Given the description of an element on the screen output the (x, y) to click on. 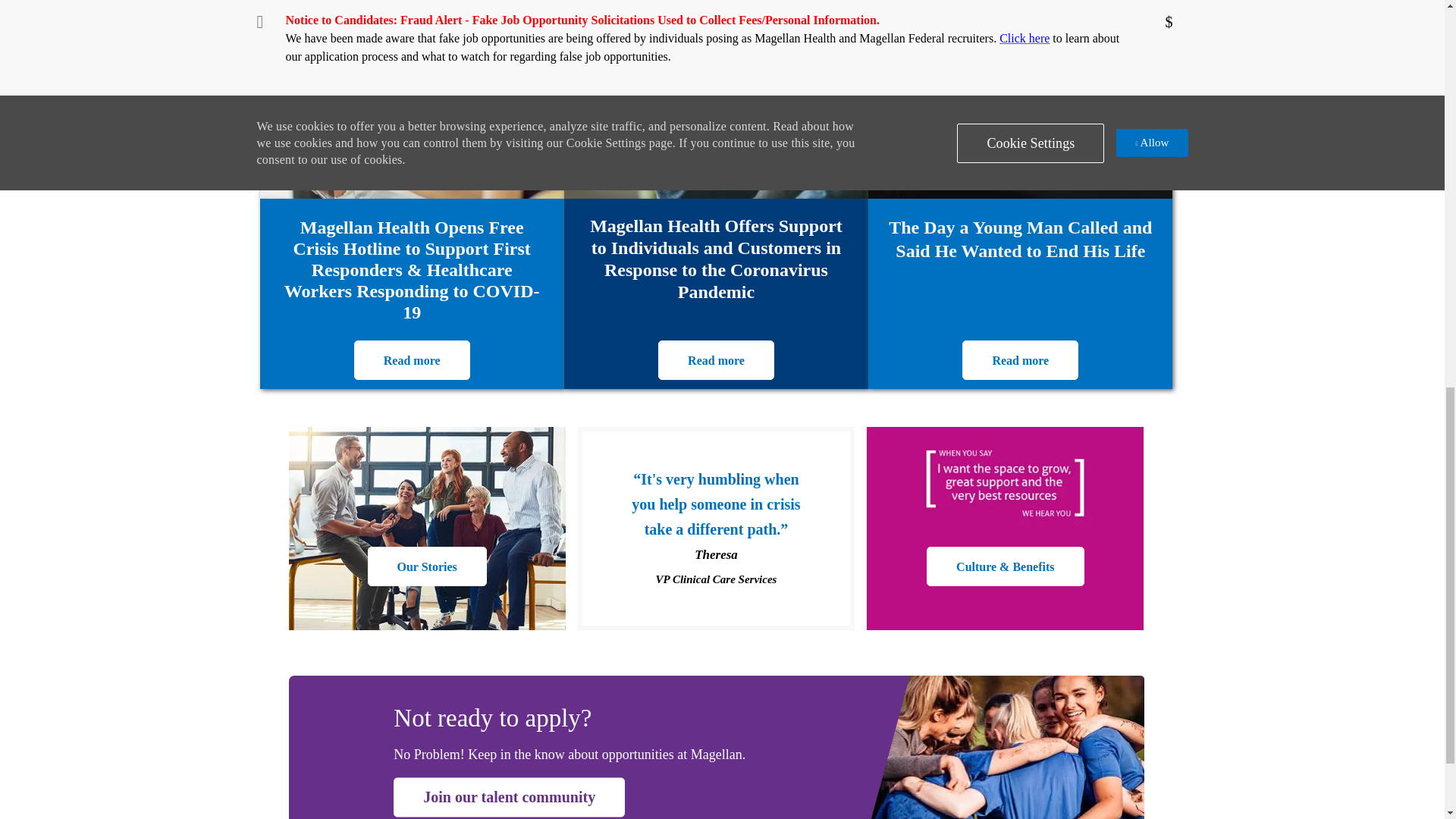
Read more (411, 360)
Read more (1020, 360)
Our Stories (427, 566)
Read more (716, 360)
Our Stories (427, 566)
Culture and Benefits (1004, 566)
Join our talent community (508, 797)
